Given the description of an element on the screen output the (x, y) to click on. 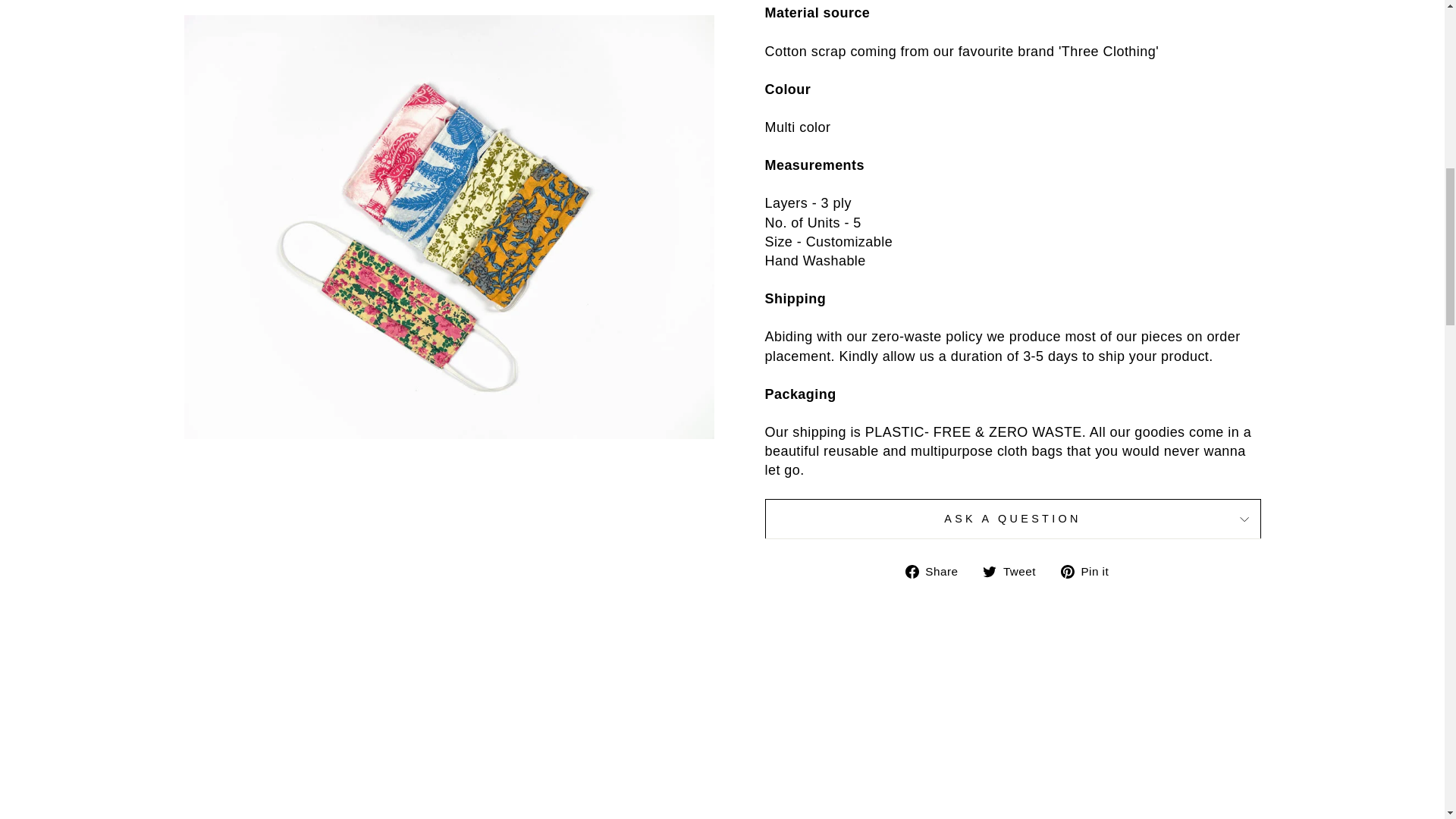
Share on Facebook (937, 570)
Tweet on Twitter (1014, 570)
Pin on Pinterest (1090, 570)
twitter (988, 571)
